Given the description of an element on the screen output the (x, y) to click on. 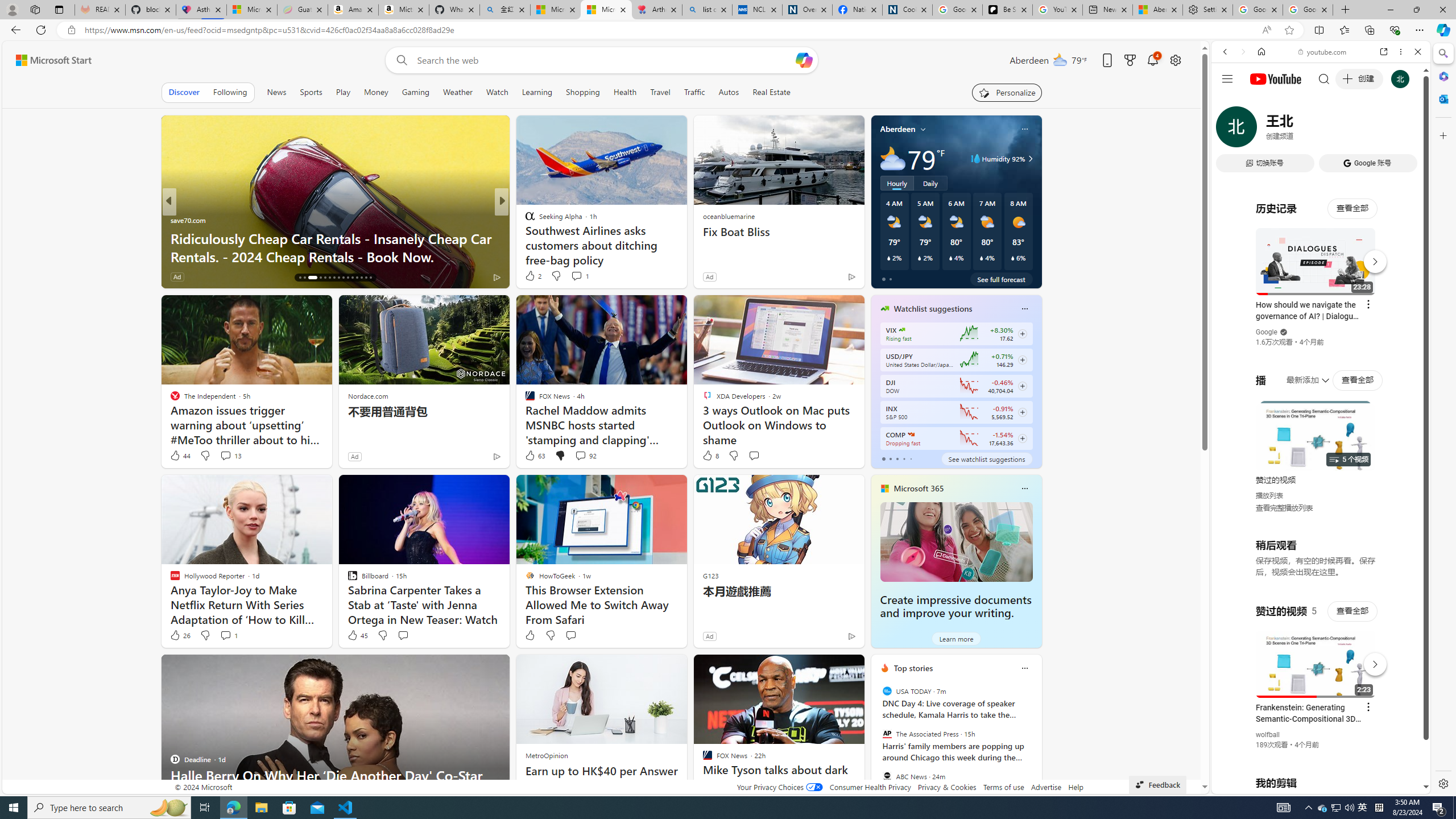
Trailer #2 [HD] (1320, 337)
Shopping (583, 92)
This story is trending (829, 279)
Help (1075, 786)
tab-0 (882, 458)
Earn up to HK$40 per Answer (601, 771)
Play (342, 92)
Open settings (1175, 60)
Music (1320, 309)
Aberdeen, Hong Kong SAR hourly forecast | Microsoft Weather (1158, 9)
Be Smart | creating Science videos | Patreon (1006, 9)
